Given the description of an element on the screen output the (x, y) to click on. 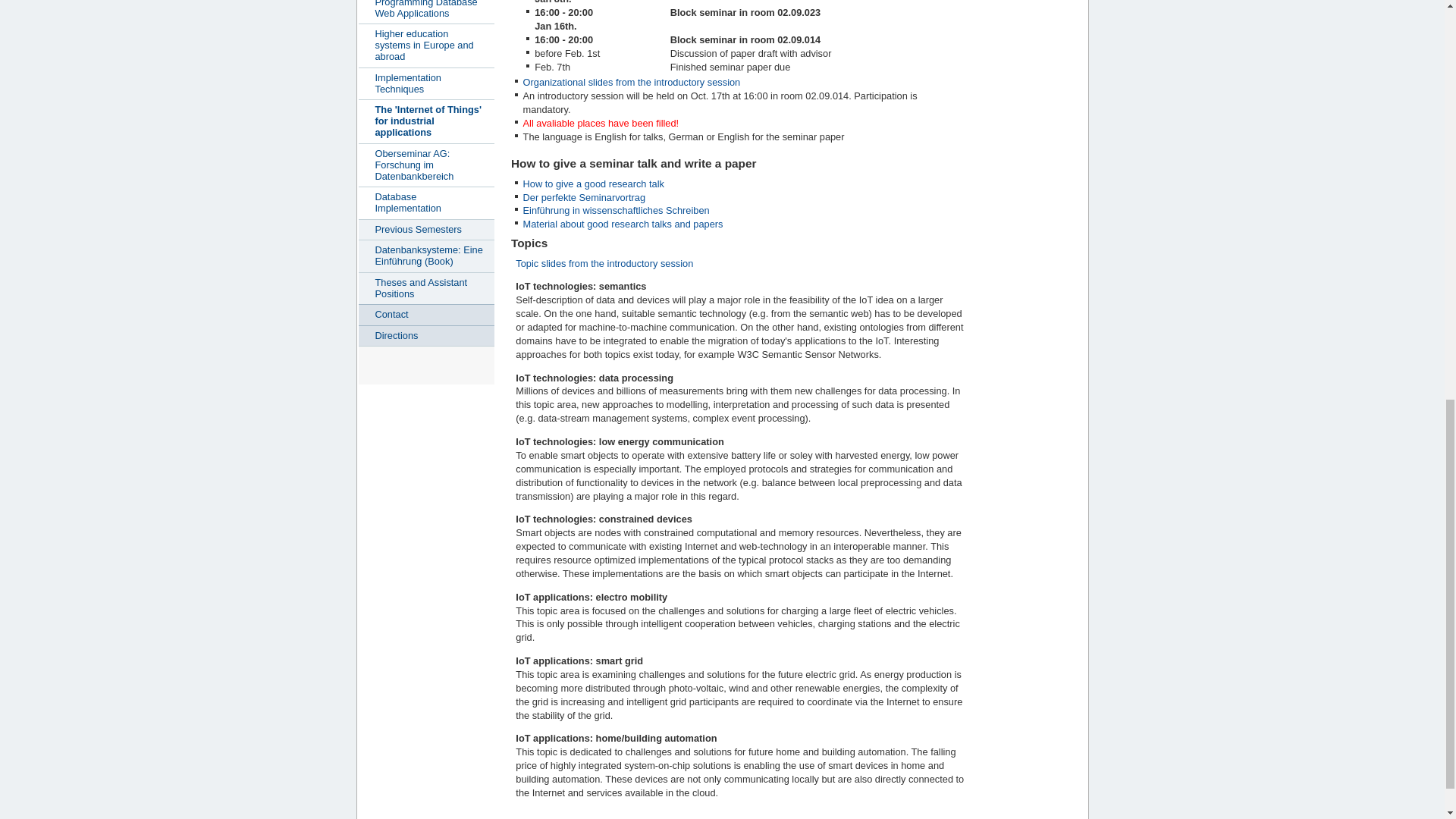
Topic slides from the introductory session (604, 263)
Der perfekte Seminarvortrag (583, 196)
Organizational slides from the introductory session (631, 81)
Material about good research talks and papers (622, 224)
How to give a good research talk (592, 183)
